Given the description of an element on the screen output the (x, y) to click on. 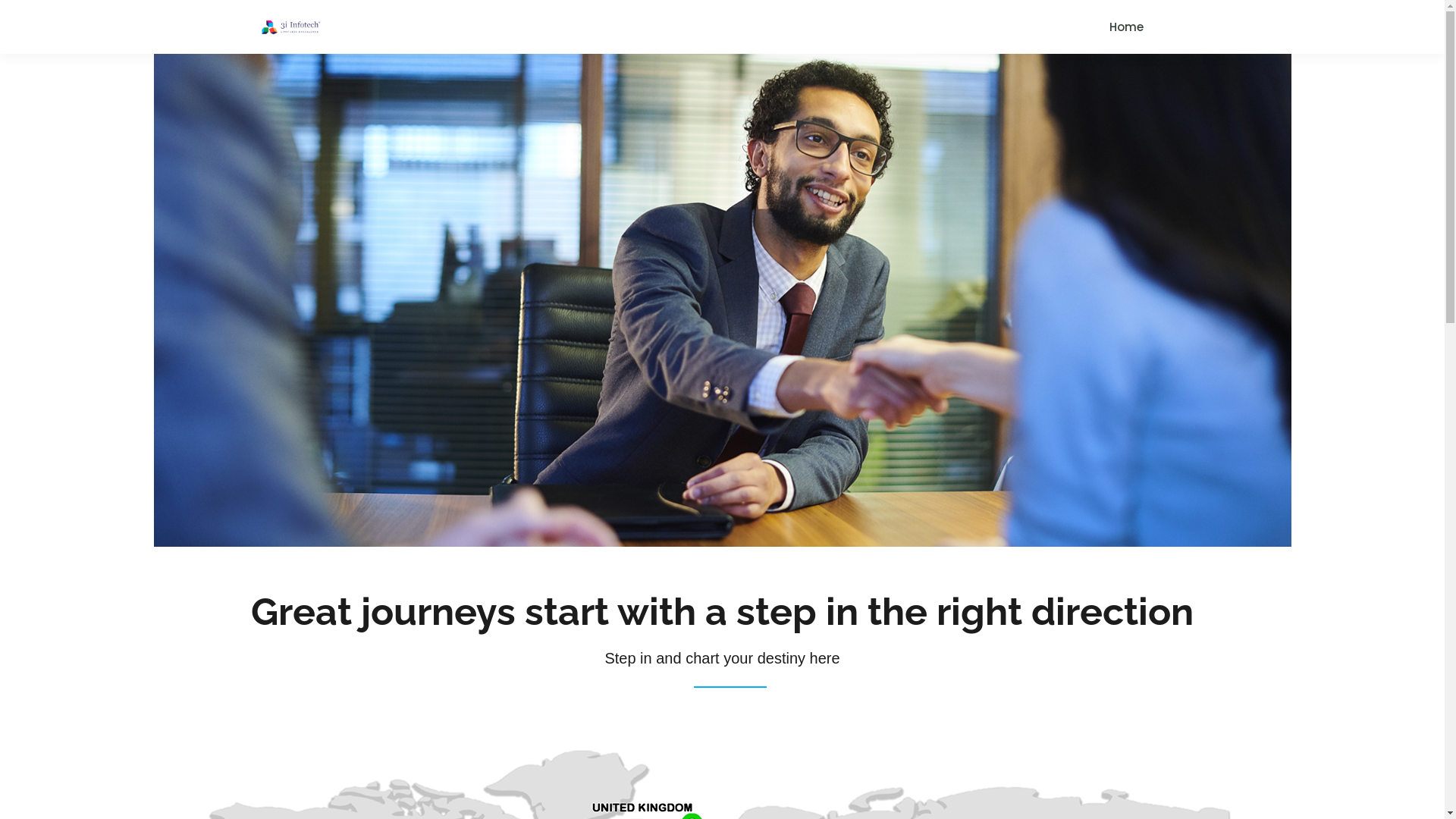
Home Element type: text (1125, 26)
